Given the description of an element on the screen output the (x, y) to click on. 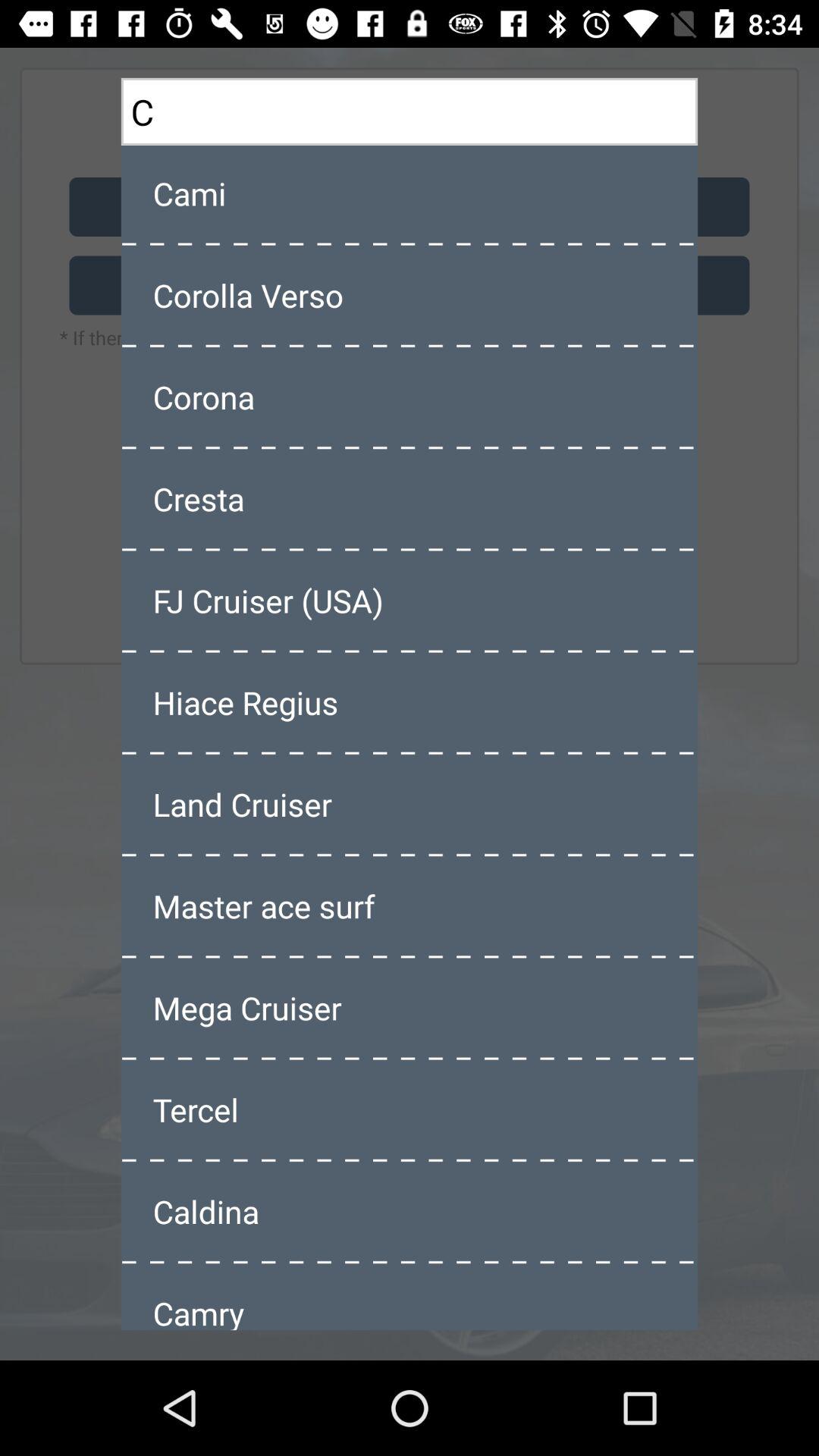
turn off cami (409, 193)
